Given the description of an element on the screen output the (x, y) to click on. 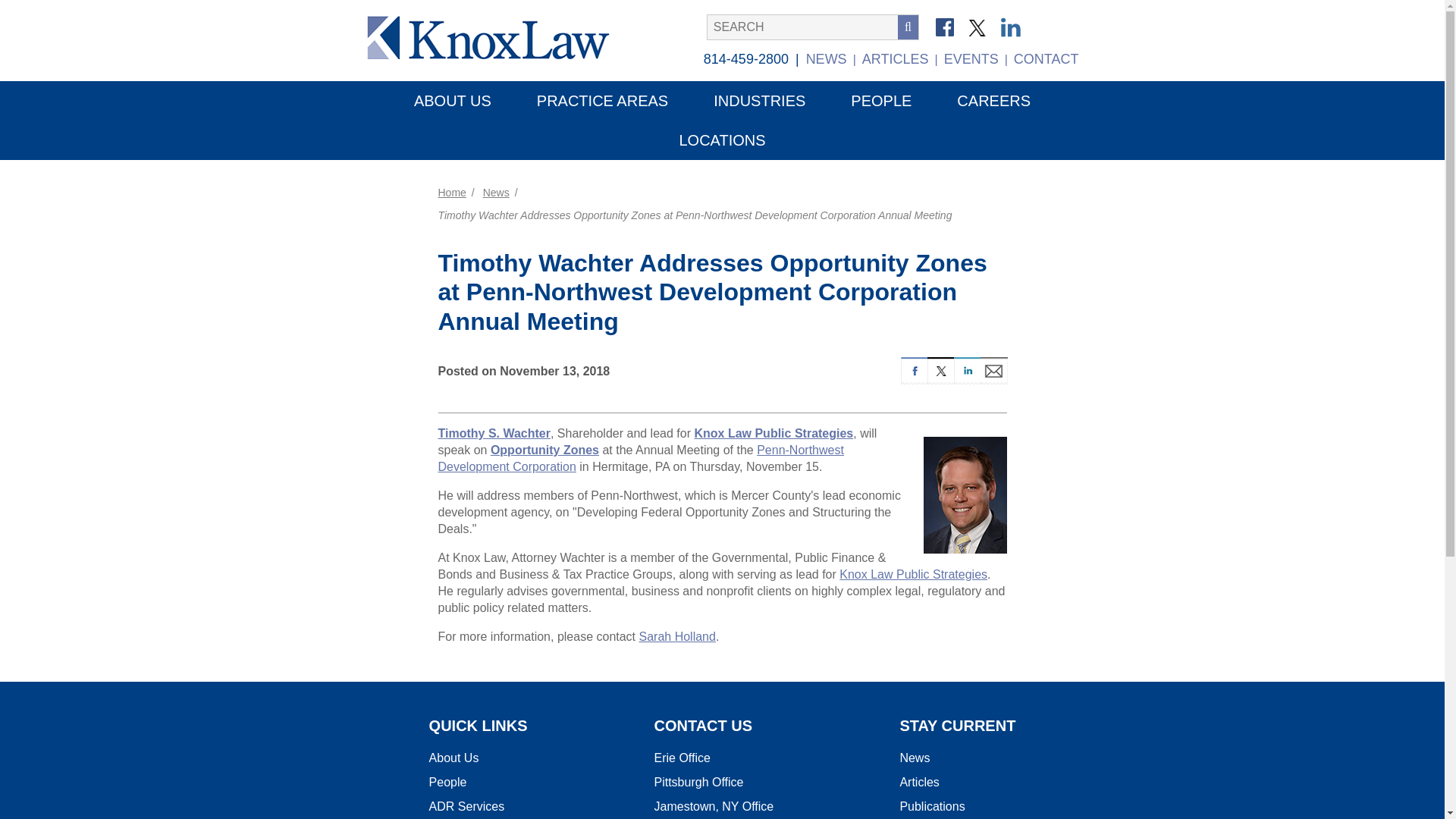
Back to Home Page (496, 35)
NEWS (826, 58)
EVENTS (970, 58)
ARTICLES (894, 58)
CONTACT (1045, 58)
Skip to main content (94, 3)
ABOUT US (452, 100)
Email (993, 369)
Share on LinkedIn (966, 369)
